Given the description of an element on the screen output the (x, y) to click on. 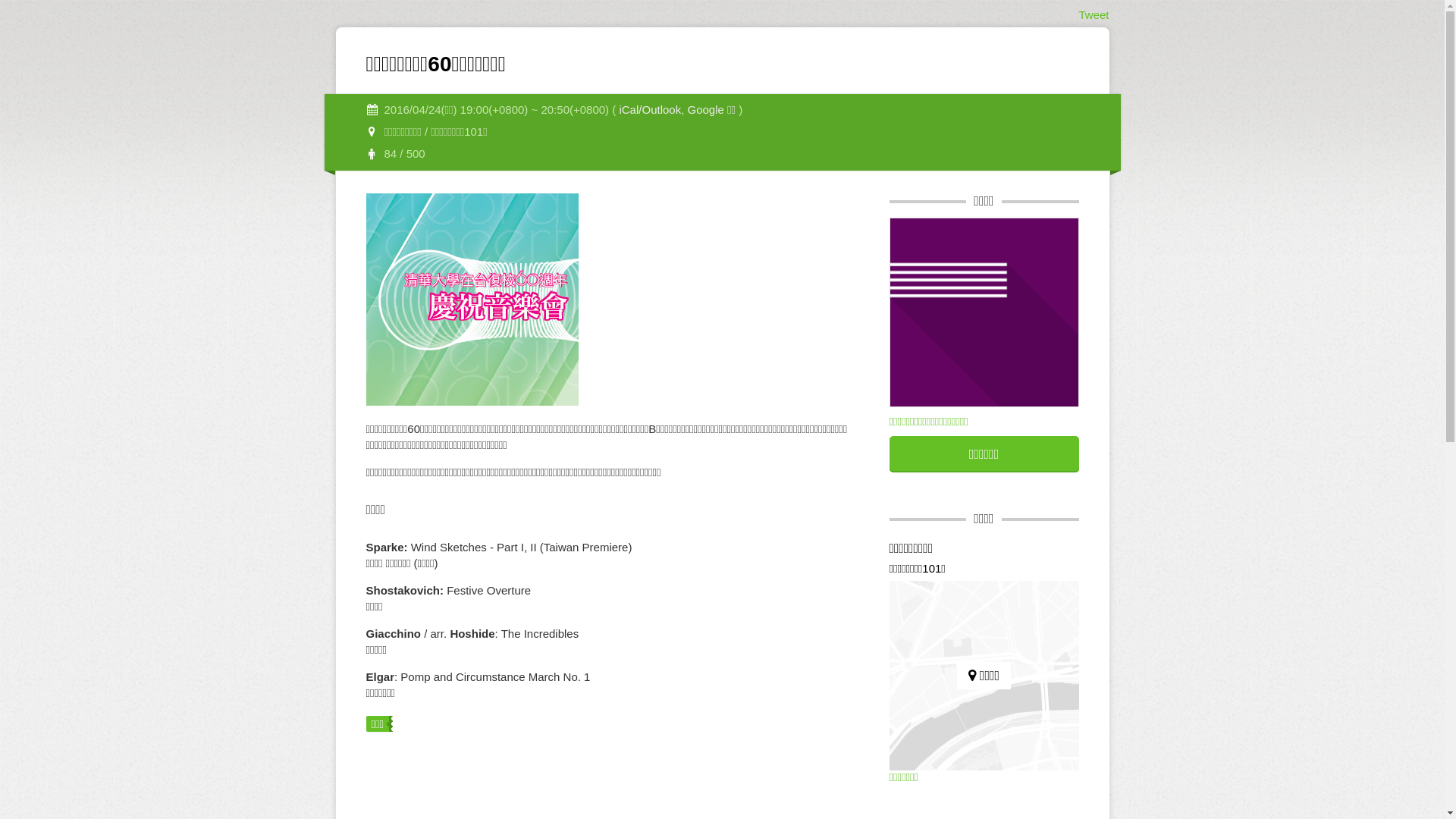
iCal/Outlook Element type: text (649, 109)
Tweet Element type: text (1093, 14)
